Given the description of an element on the screen output the (x, y) to click on. 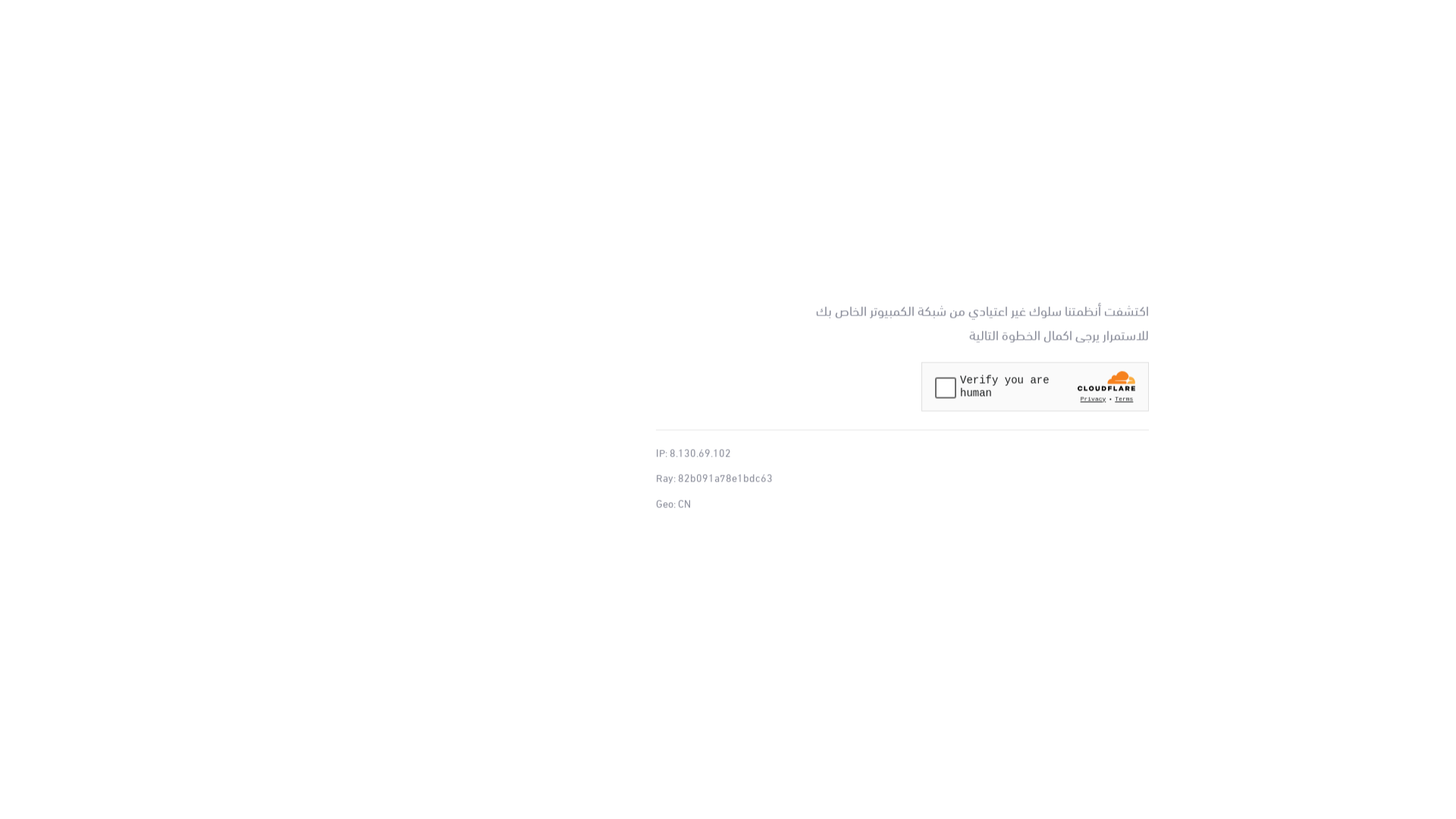
Widget containing a Cloudflare security challenge Element type: hover (1034, 386)
